Given the description of an element on the screen output the (x, y) to click on. 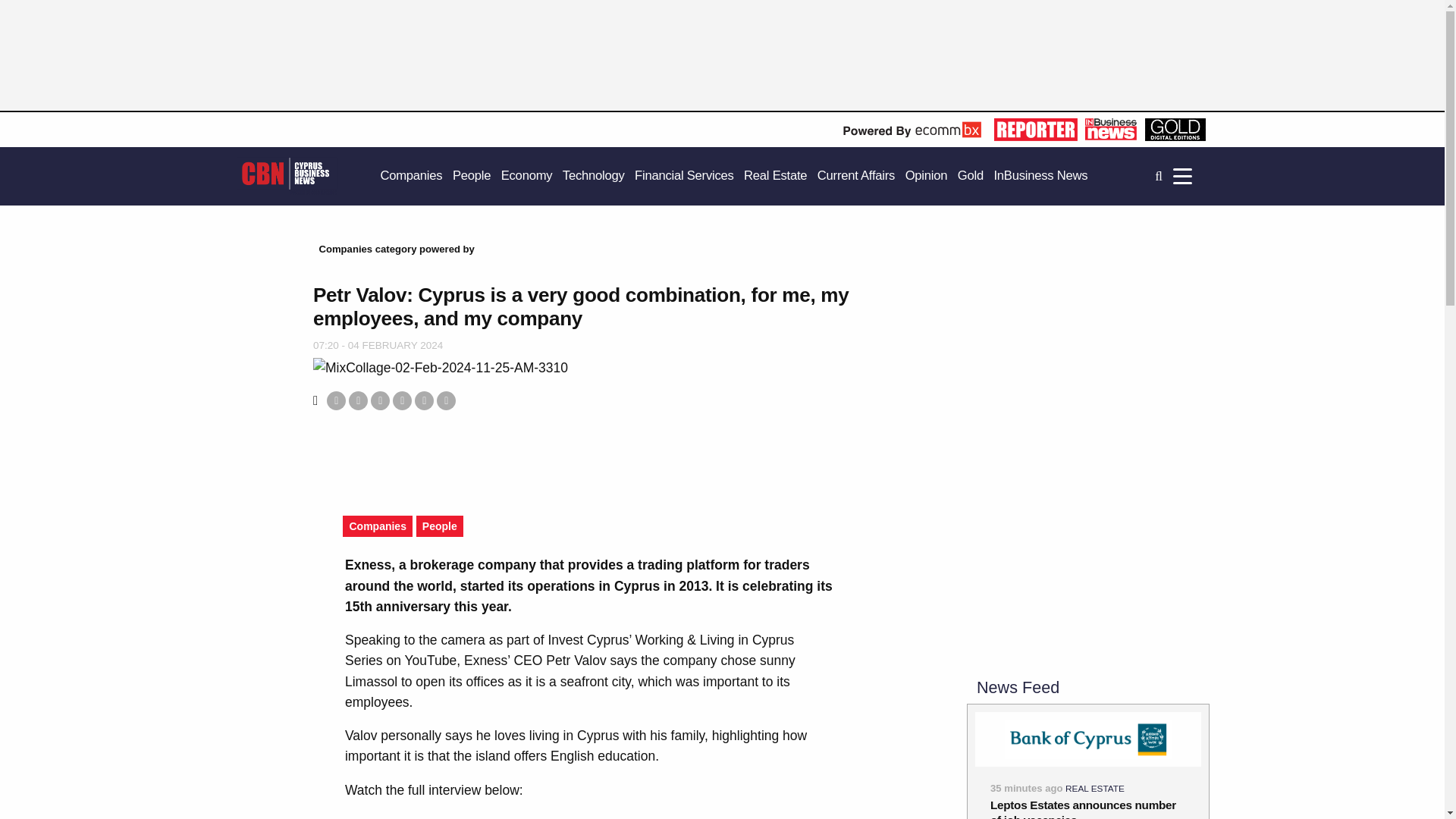
3rd party ad content (1088, 557)
3rd party ad content (549, 62)
Real Estate (775, 176)
People (471, 176)
Financial Services (684, 176)
Current Affairs (855, 176)
Gold (970, 176)
MixCollage-02-Feb-2024-11-25-AM-3310 (440, 367)
Opinion (926, 176)
3rd party ad content (1088, 345)
Economy (526, 176)
InBusiness News (1040, 176)
3rd party ad content (588, 457)
Companies (411, 176)
Technology (593, 176)
